Given the description of an element on the screen output the (x, y) to click on. 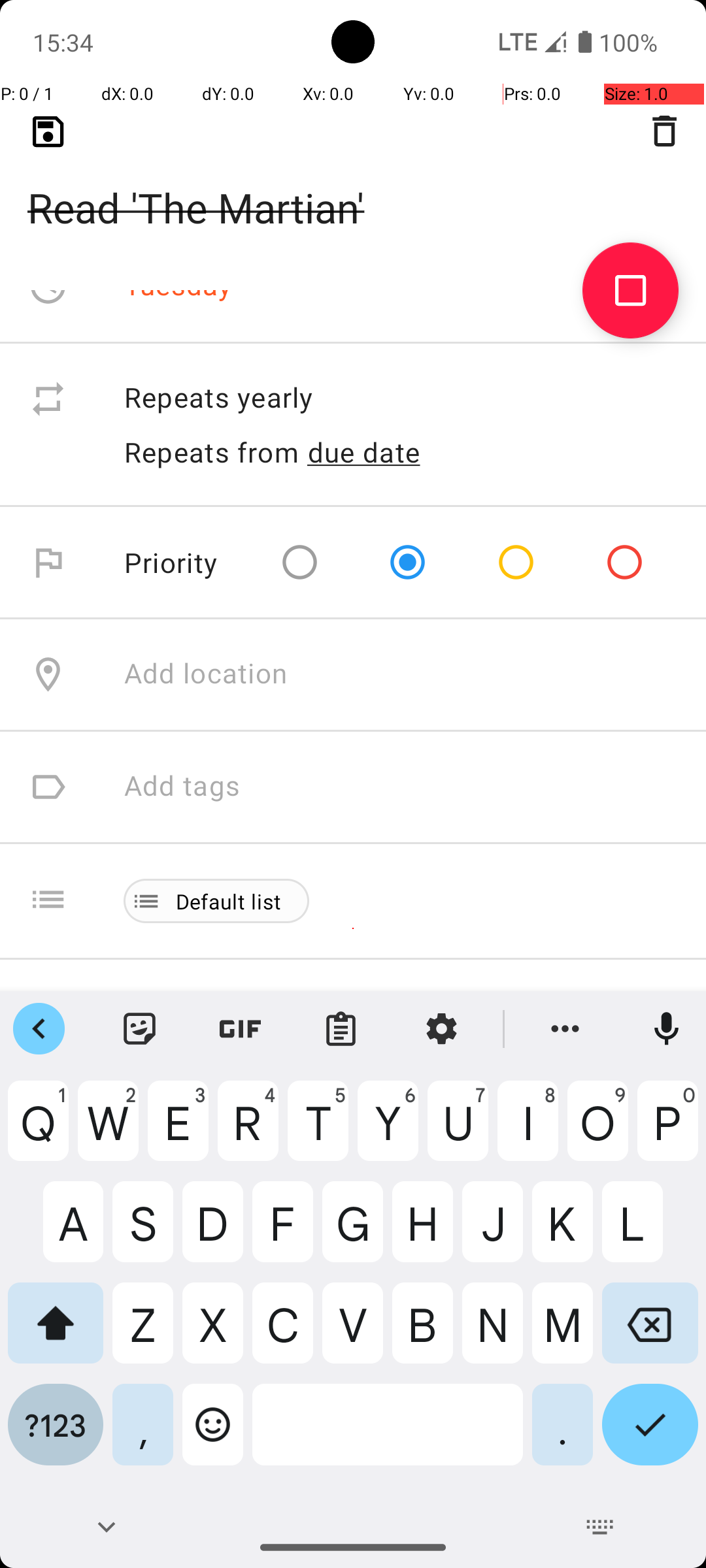
Monday, October 2 Element type: android.widget.TextView (245, 173)
Repeats yearly Element type: android.widget.TextView (400, 398)
Repeats from Element type: android.widget.TextView (211, 451)
due date Element type: android.widget.TextView (363, 451)
